Given the description of an element on the screen output the (x, y) to click on. 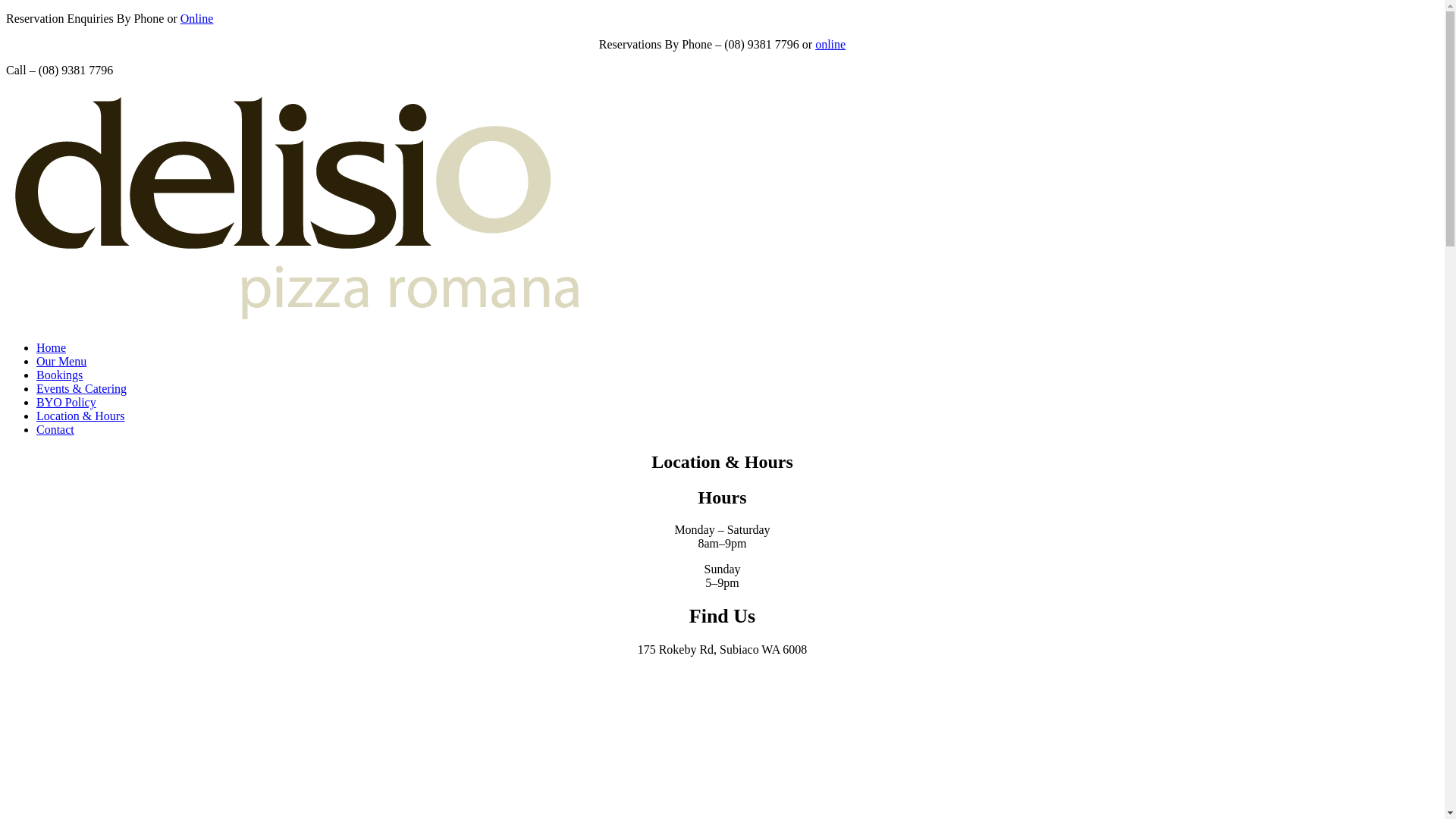
online Element type: text (830, 43)
Delisio-Logo-Perth-Subiaco-Gourmet-Pizzeria Element type: hover (296, 207)
Home Element type: text (50, 347)
Location & Hours Element type: text (80, 415)
Contact Element type: text (55, 429)
Our Menu Element type: text (61, 360)
Bookings Element type: text (59, 374)
BYO Policy Element type: text (66, 401)
Online Element type: text (196, 18)
Events & Catering Element type: text (81, 388)
